Given the description of an element on the screen output the (x, y) to click on. 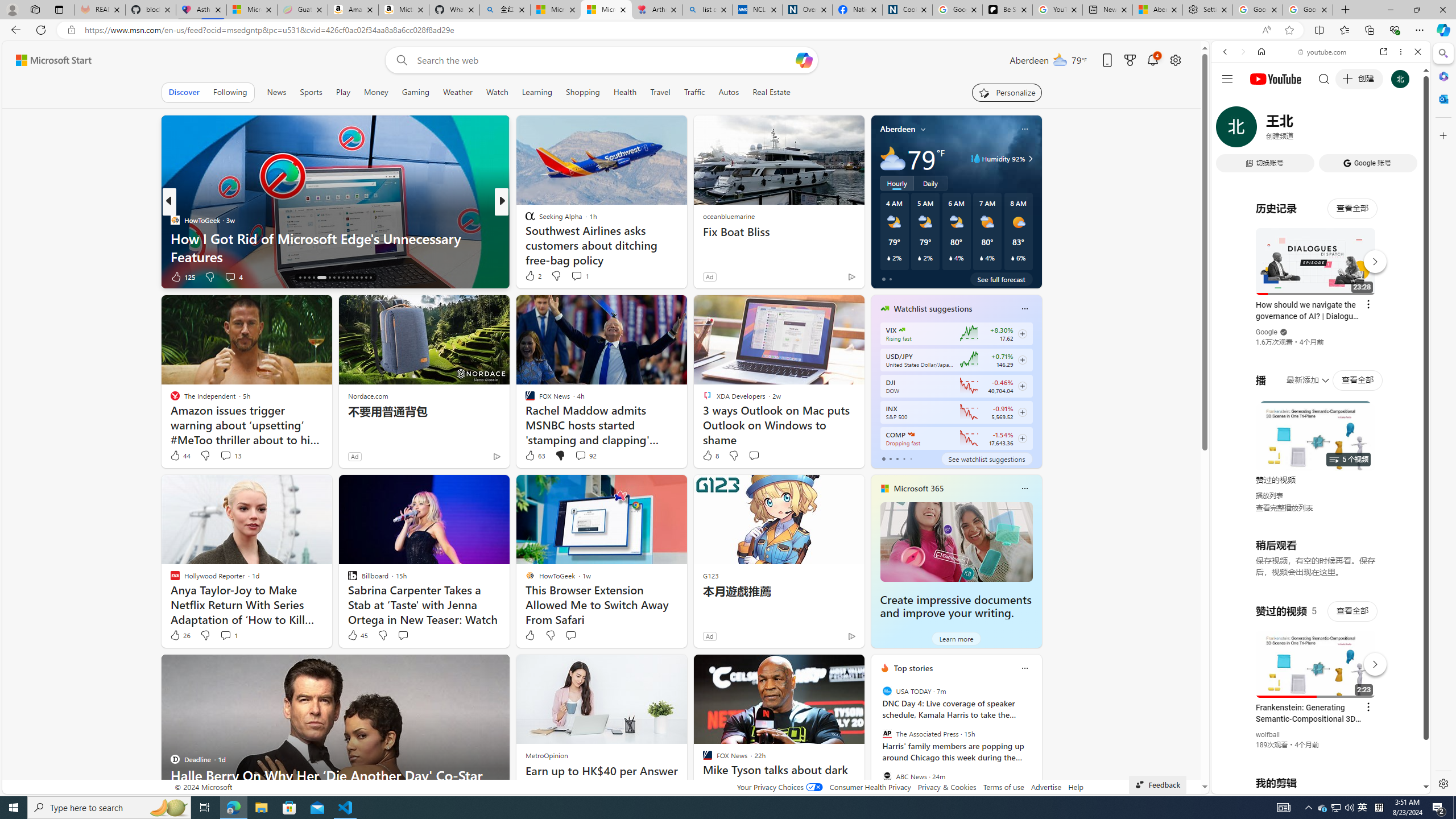
AutomationID: tab-25 (347, 277)
The Conversation (524, 238)
